Given the description of an element on the screen output the (x, y) to click on. 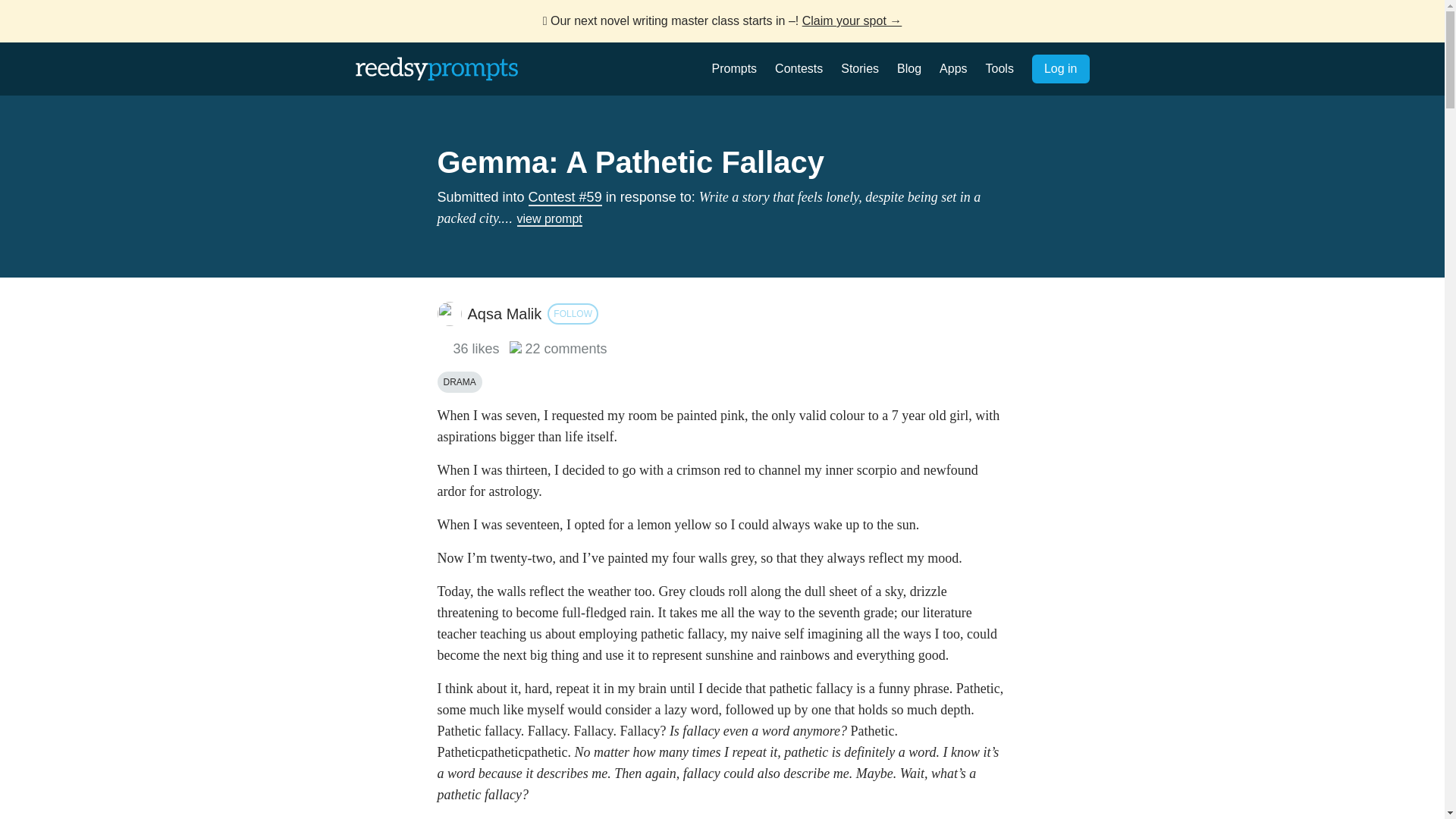
Stories (860, 68)
Apps (952, 68)
Log in (1060, 68)
Blog (908, 68)
Tools (999, 68)
Prompts (734, 68)
22 comments (558, 348)
Contests (798, 68)
